Given the description of an element on the screen output the (x, y) to click on. 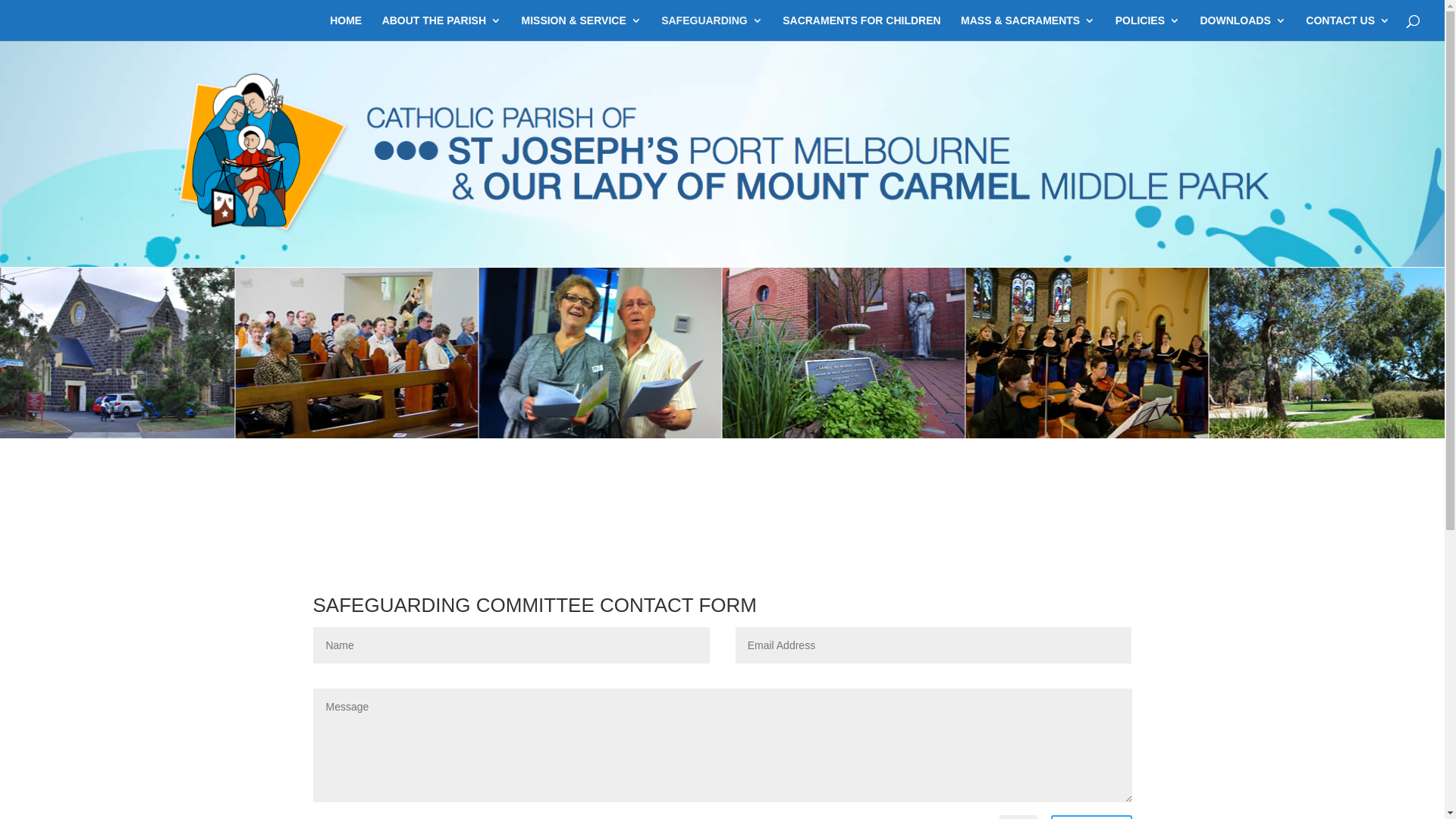
DOWNLOADS Element type: text (1242, 27)
HOME Element type: text (345, 27)
ABOUT THE PARISH Element type: text (441, 27)
MISSION & SERVICE Element type: text (581, 27)
SACRAMENTS FOR CHILDREN Element type: text (861, 27)
CONTACT US Element type: text (1347, 27)
SAFEGUARDING Element type: text (711, 27)
MASS & SACRAMENTS Element type: text (1027, 27)
POLICIES Element type: text (1147, 27)
